Given the description of an element on the screen output the (x, y) to click on. 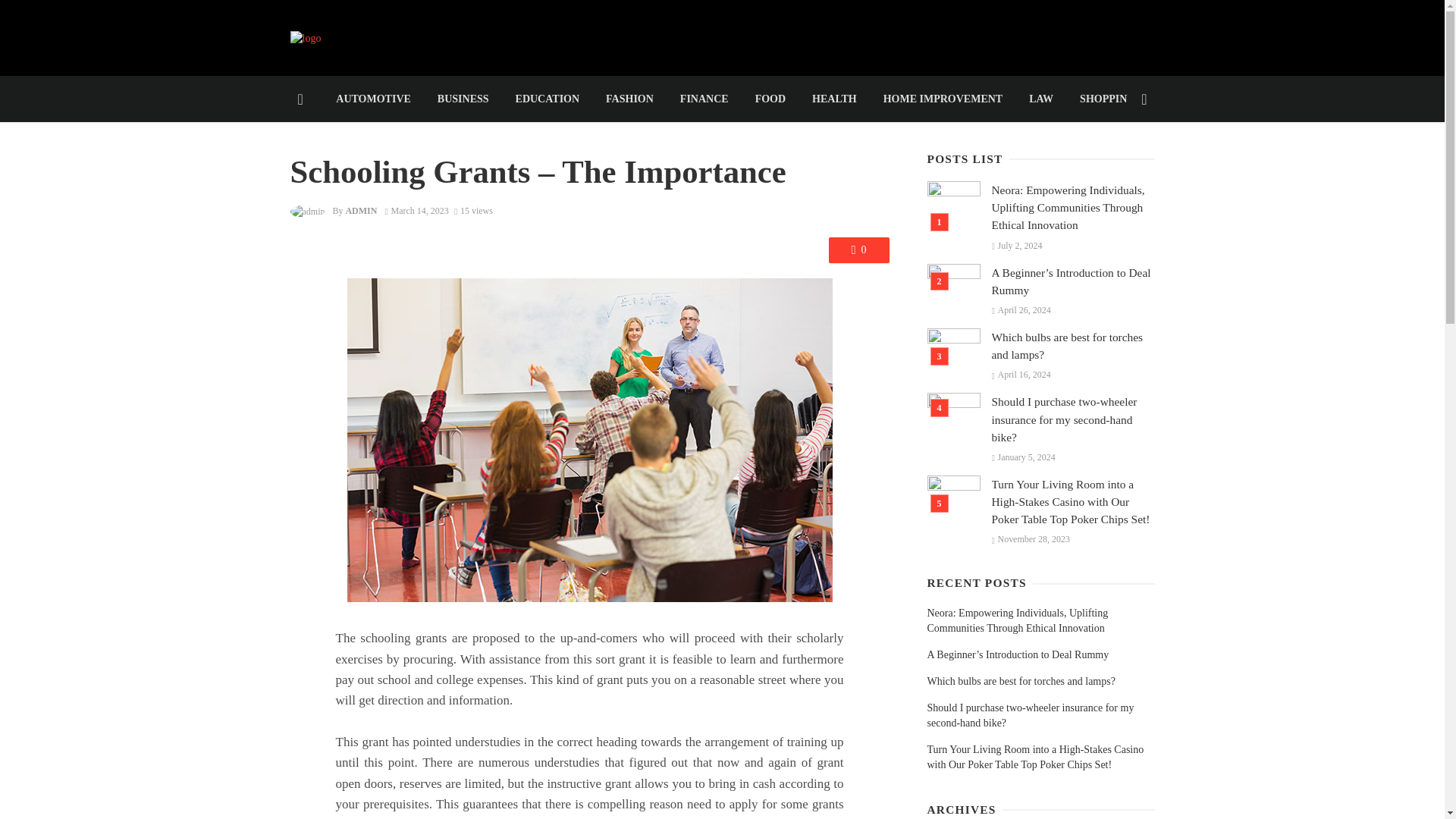
April 16, 2024 at 5:58 am (1021, 374)
April 26, 2024 at 11:51 am (1021, 309)
Which bulbs are best for torches and lamps? (1020, 681)
0 (858, 249)
Which bulbs are best for torches and lamps? (1072, 345)
January 5, 2024 at 7:39 am (1023, 457)
FOOD (769, 99)
BUSINESS (462, 99)
LAW (1041, 99)
FINANCE (703, 99)
FASHION (629, 99)
AUTOMOTIVE (374, 99)
July 2, 2024 at 12:15 pm (1016, 245)
